Given the description of an element on the screen output the (x, y) to click on. 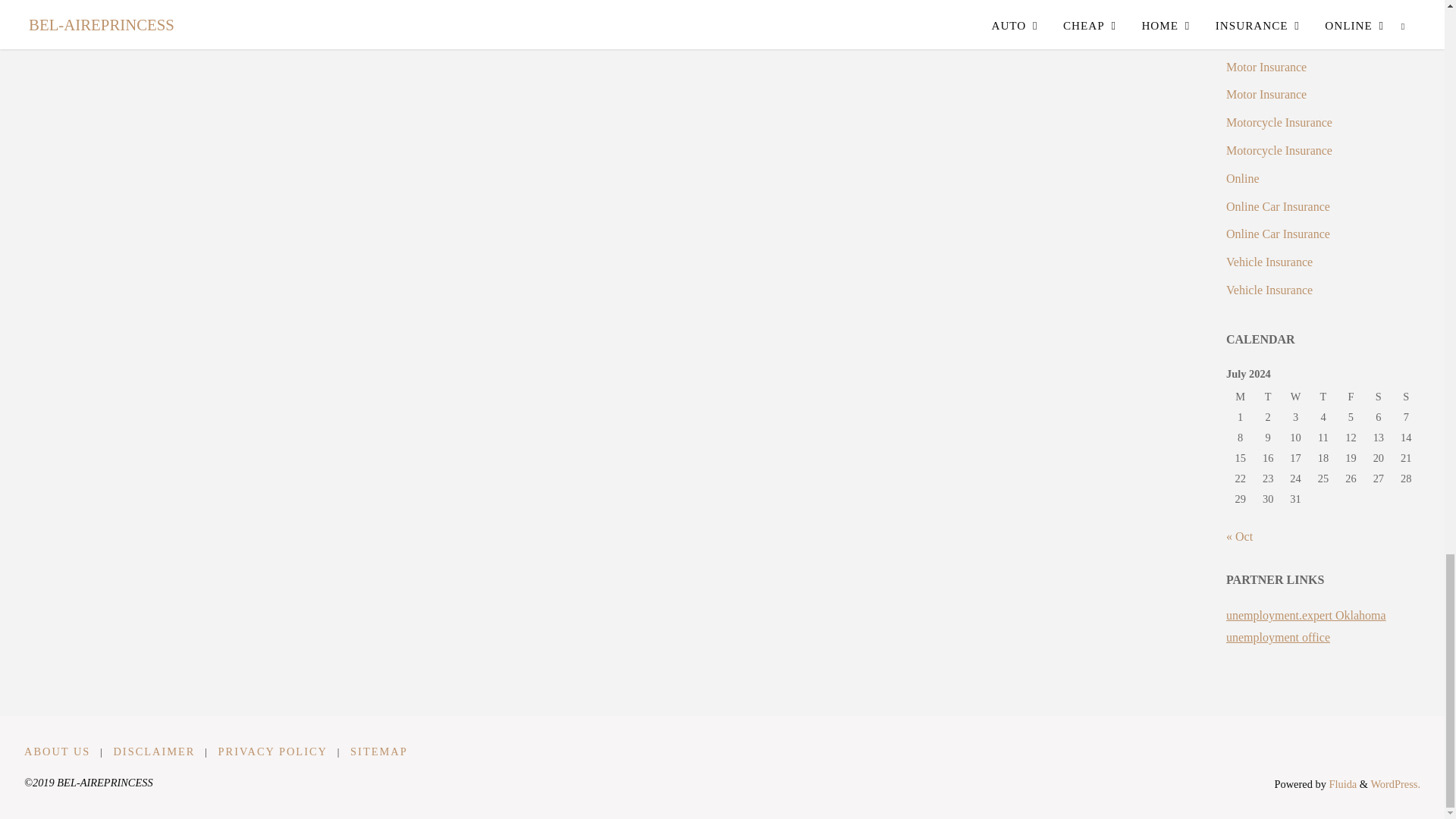
Saturday (1378, 397)
Monday (1240, 397)
Tuesday (1267, 397)
Wednesday (1294, 397)
Semantic Personal Publishing Platform (1395, 784)
Fluida WordPress Theme by Cryout Creations (1341, 784)
Thursday (1322, 397)
Sunday (1405, 397)
Friday (1350, 397)
